Given the description of an element on the screen output the (x, y) to click on. 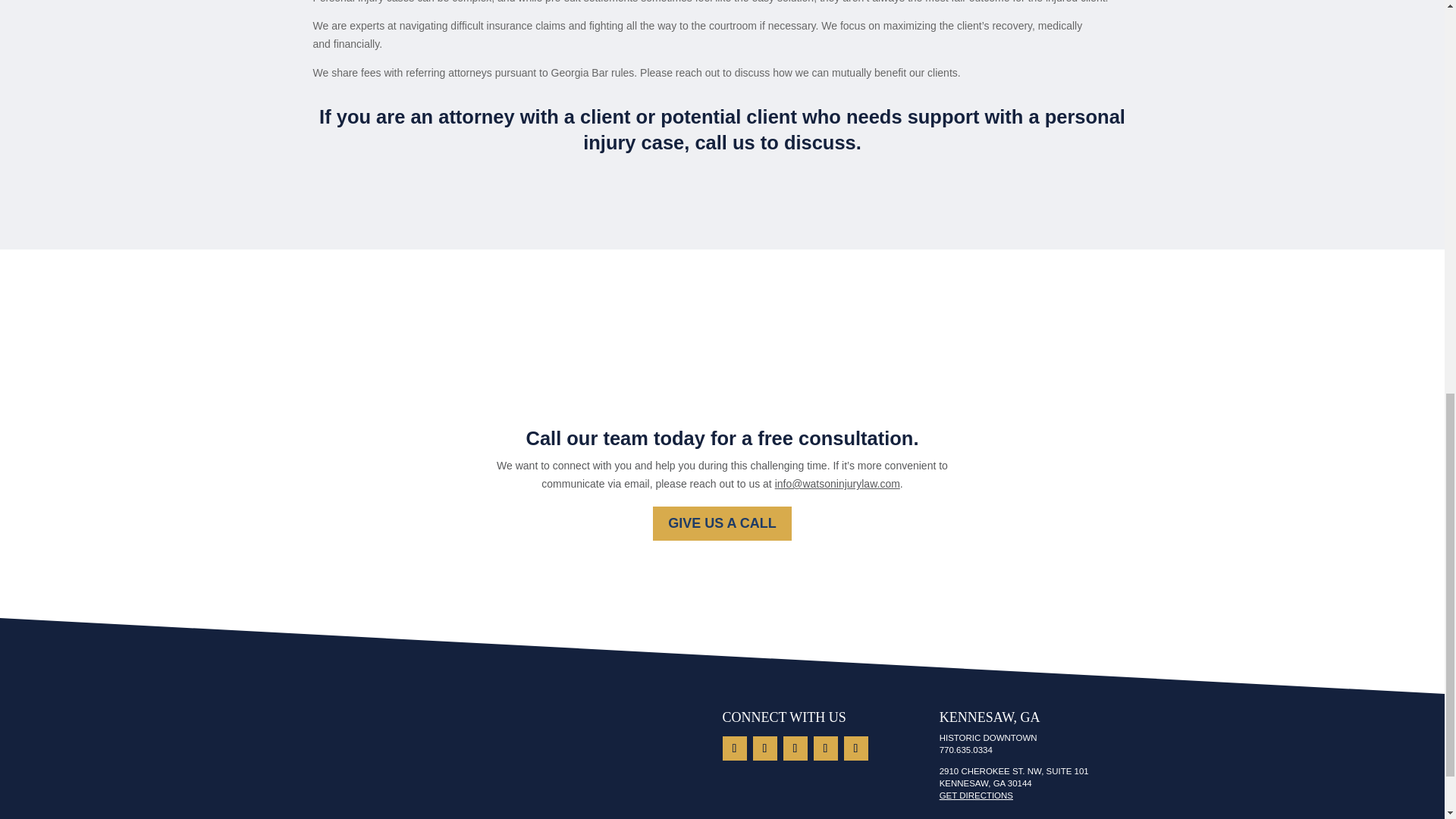
Follow on Mail (855, 748)
Follow on LinkedIn (733, 748)
Follow on Facebook (794, 748)
Follow on Youtube (824, 748)
Follow on Instagram (764, 748)
